Given the description of an element on the screen output the (x, y) to click on. 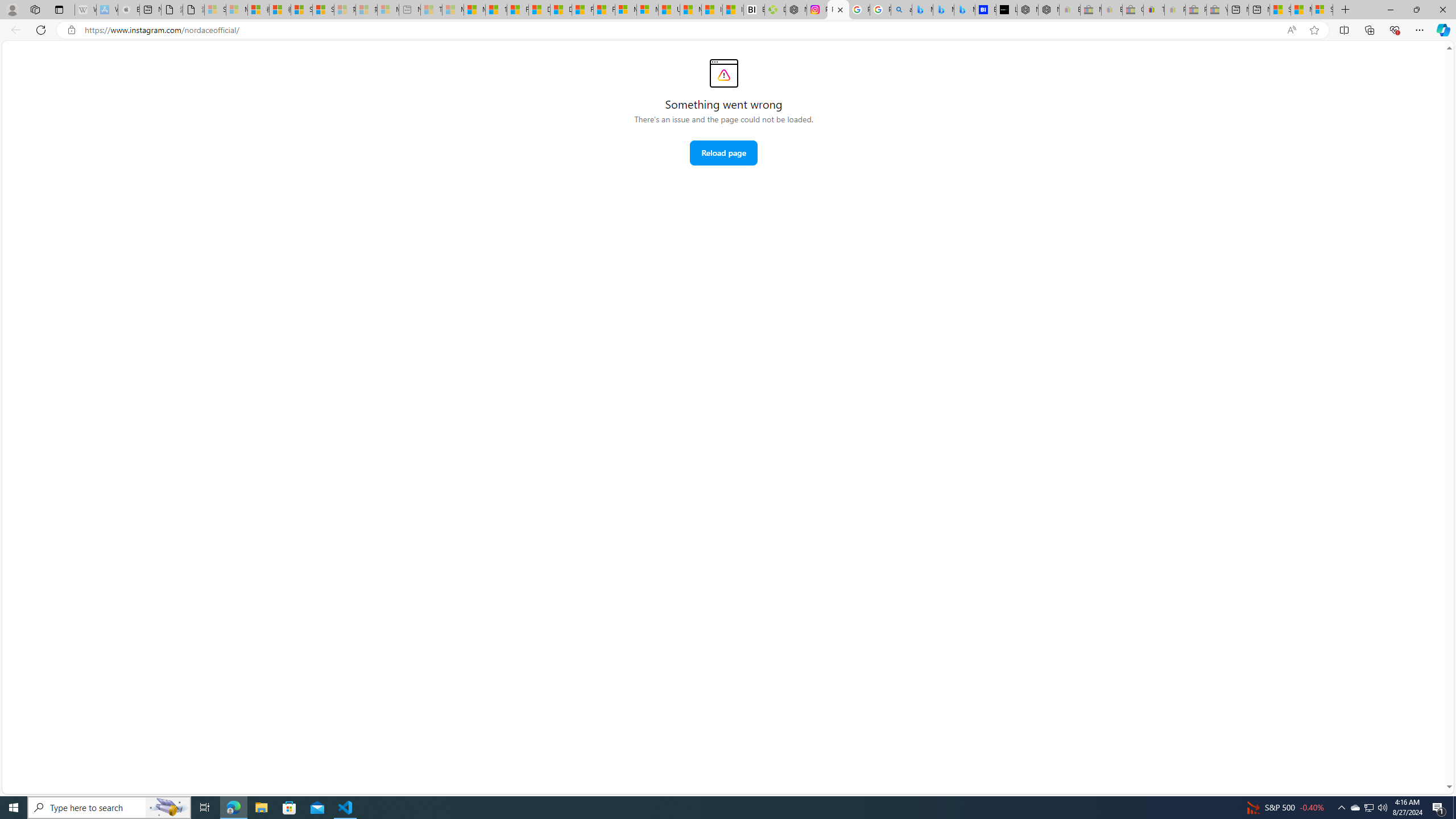
Payments Terms of Use | eBay.com - Sleeping (1174, 9)
Top Stories - MSN - Sleeping (431, 9)
Descarga Driver Updater (775, 9)
Microsoft Bing Travel - Flights from Hong Kong to Bangkok (922, 9)
Error (723, 72)
